Given the description of an element on the screen output the (x, y) to click on. 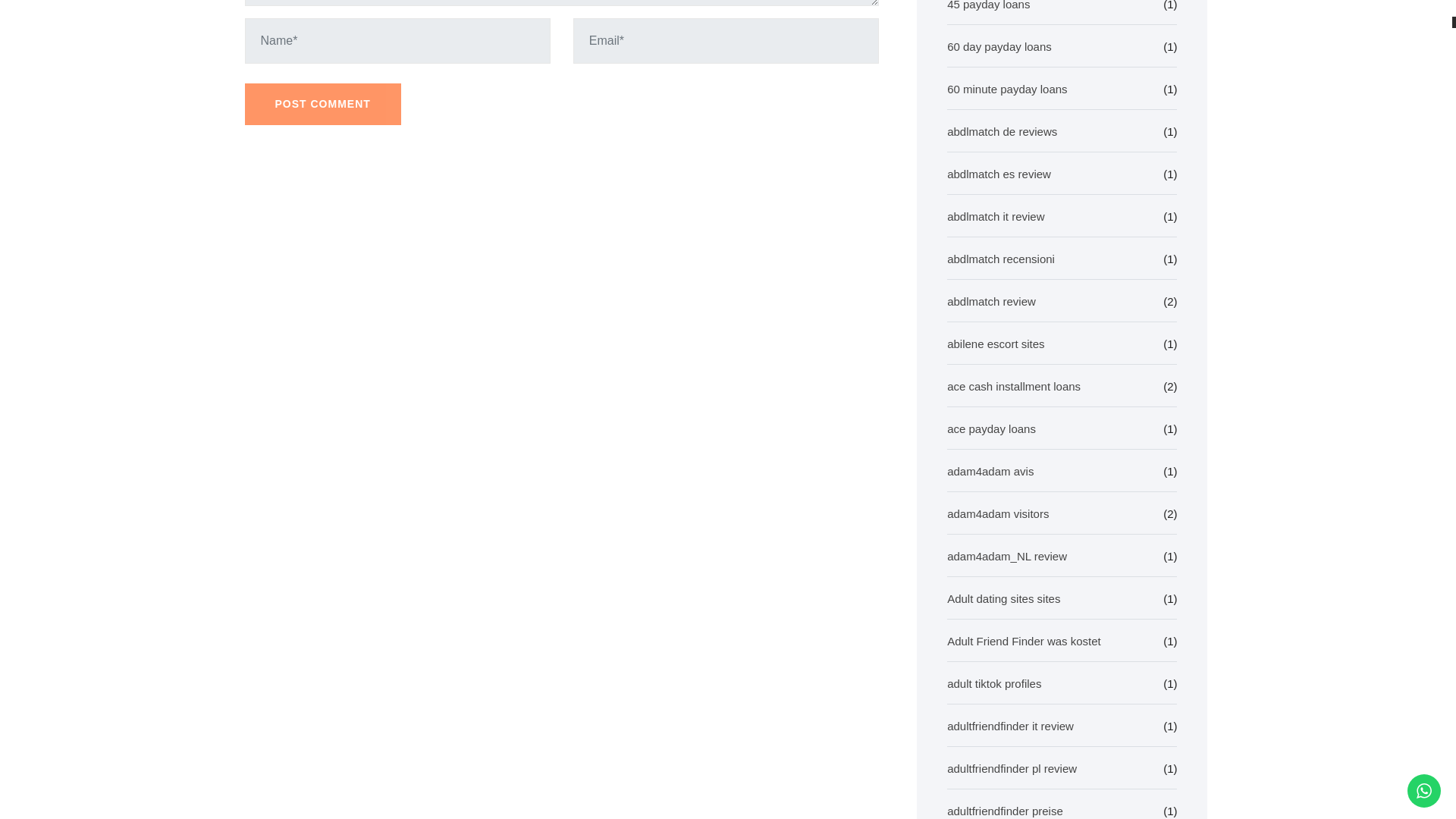
POST COMMENT (322, 104)
